Given the description of an element on the screen output the (x, y) to click on. 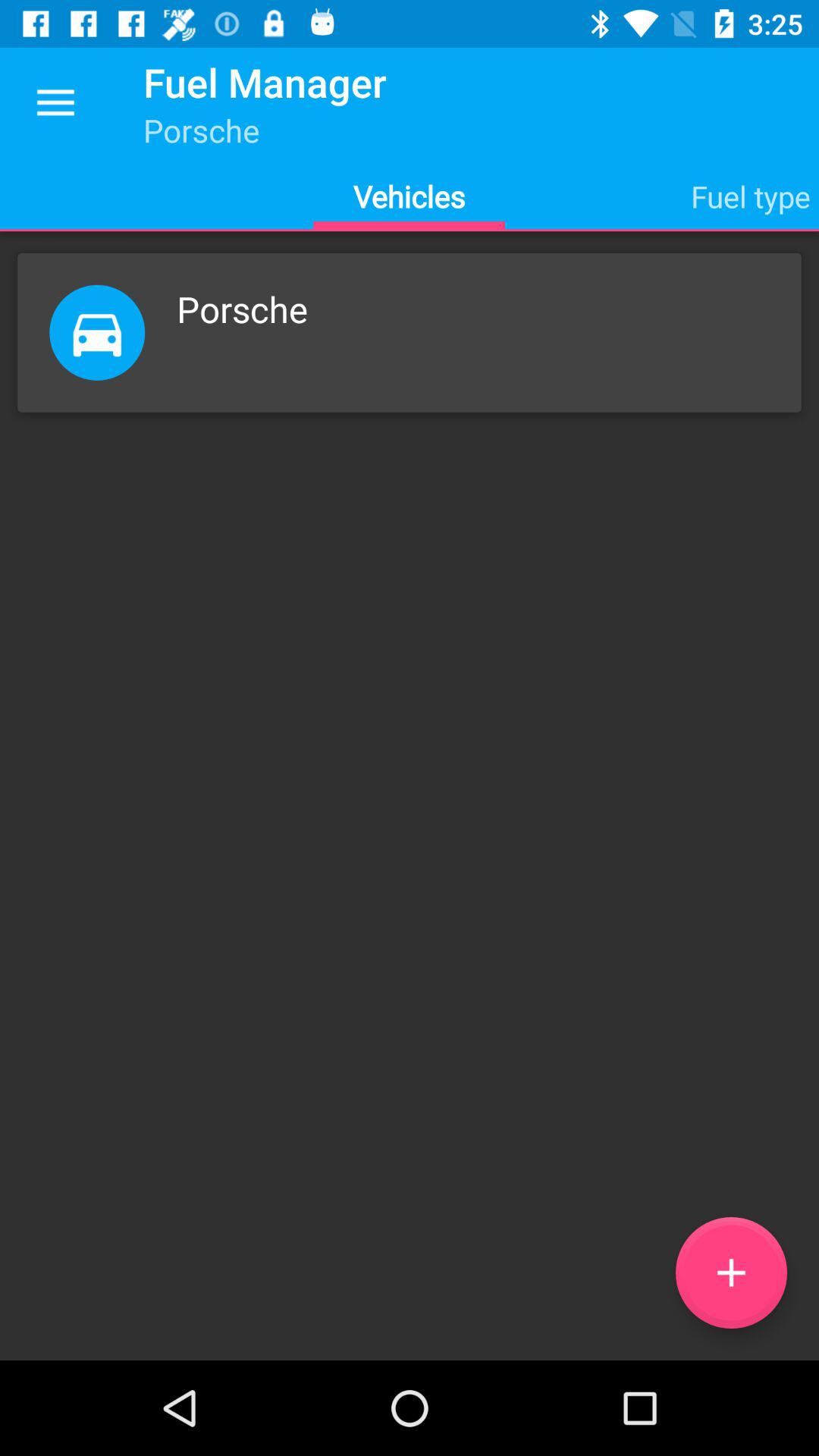
add another element (731, 1272)
